Given the description of an element on the screen output the (x, y) to click on. 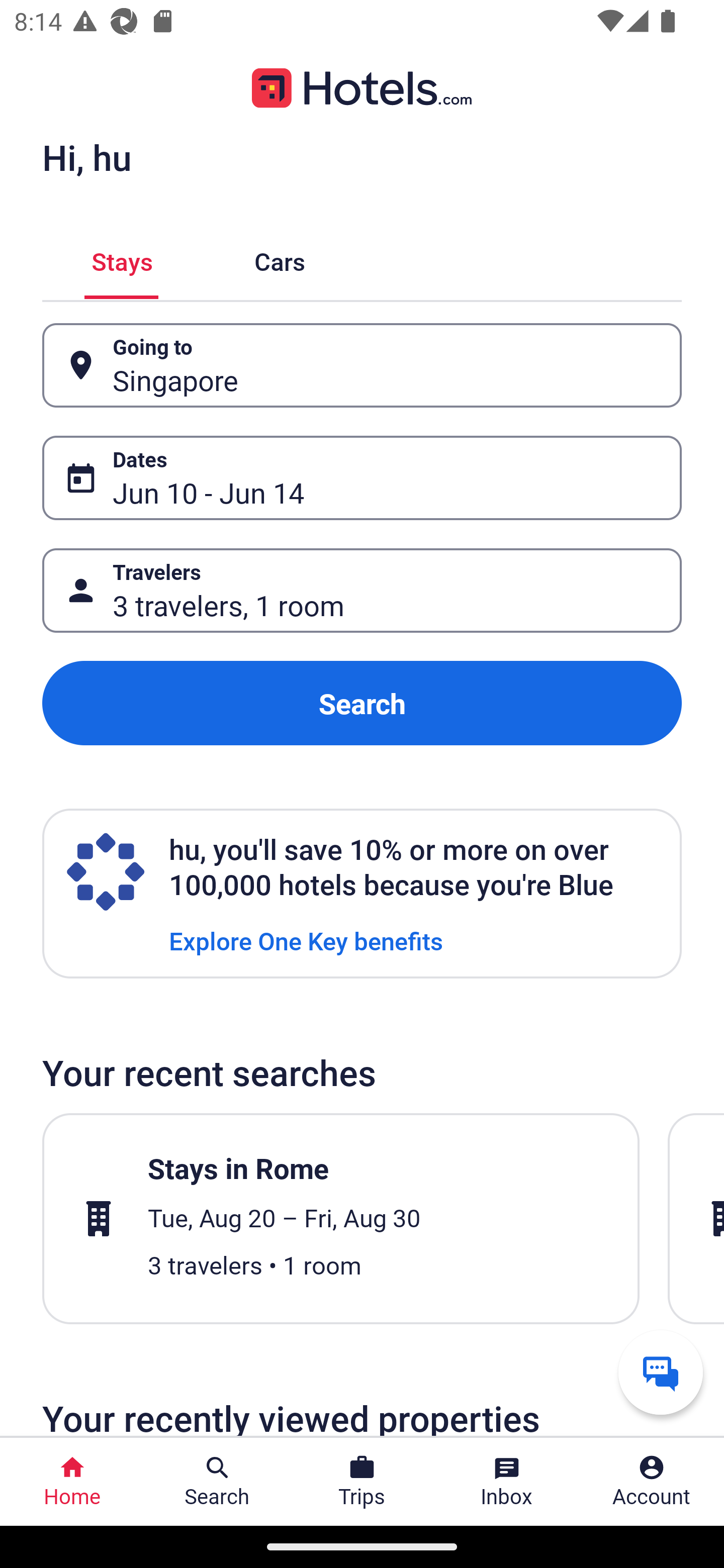
Hi, hu (86, 156)
Cars (279, 259)
Going to Button Singapore (361, 365)
Dates Button Jun 10 - Jun 14 (361, 477)
Travelers Button 3 travelers, 1 room (361, 590)
Search (361, 702)
Get help from a virtual agent (660, 1371)
Search Search Button (216, 1481)
Trips Trips Button (361, 1481)
Inbox Inbox Button (506, 1481)
Account Profile. Button (651, 1481)
